Given the description of an element on the screen output the (x, y) to click on. 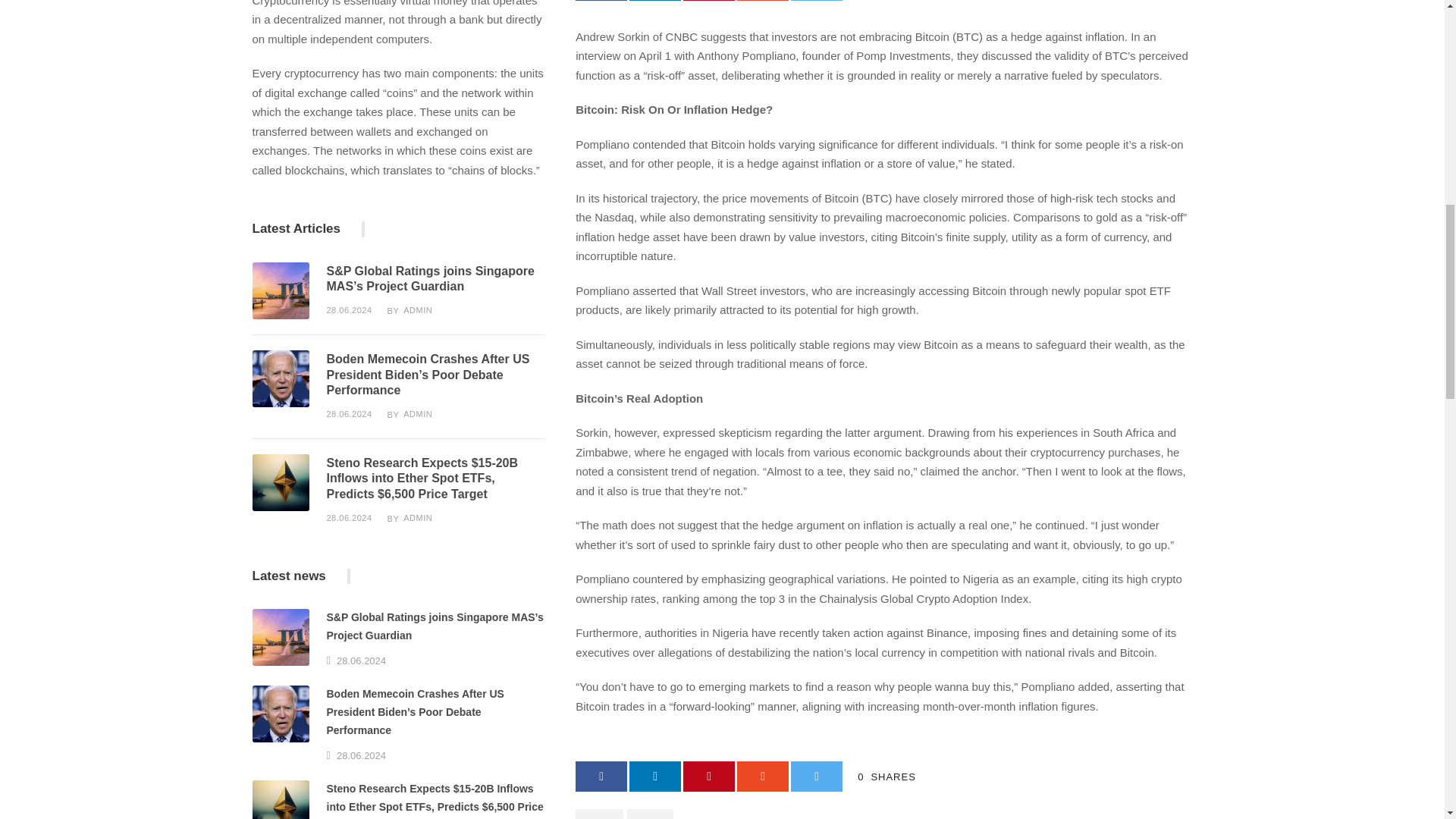
Posts by admin (417, 413)
305 (279, 290)
Posts by admin (417, 309)
14110 (279, 482)
